Given the description of an element on the screen output the (x, y) to click on. 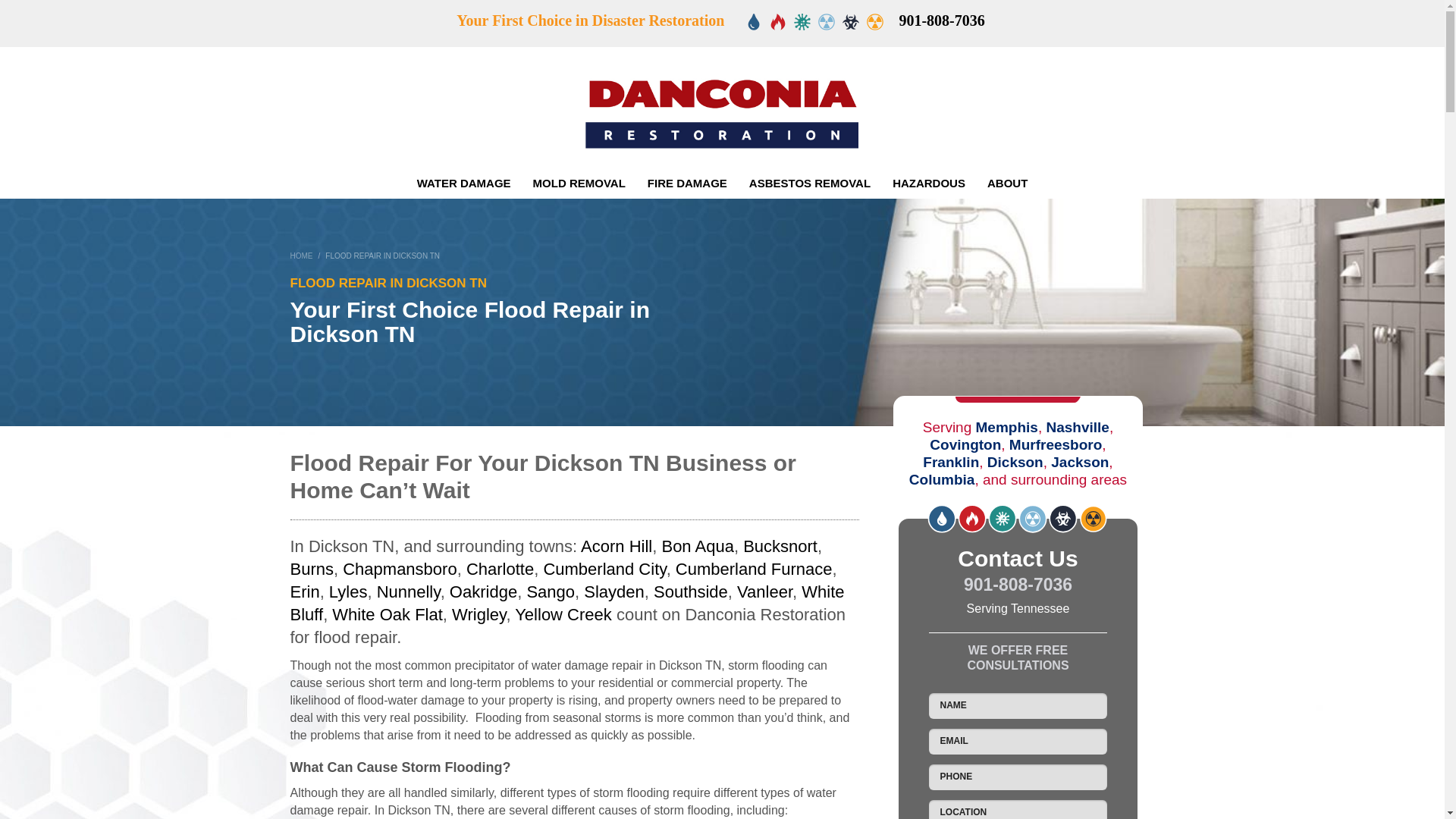
MOLD REMOVAL (579, 183)
WATER DAMAGE (463, 183)
901-808-7036 (941, 20)
danconia-Logo-6 (722, 103)
HAZARDOUS (928, 183)
FIRE DAMAGE (687, 183)
ASBESTOS REMOVAL (809, 183)
